Given the description of an element on the screen output the (x, y) to click on. 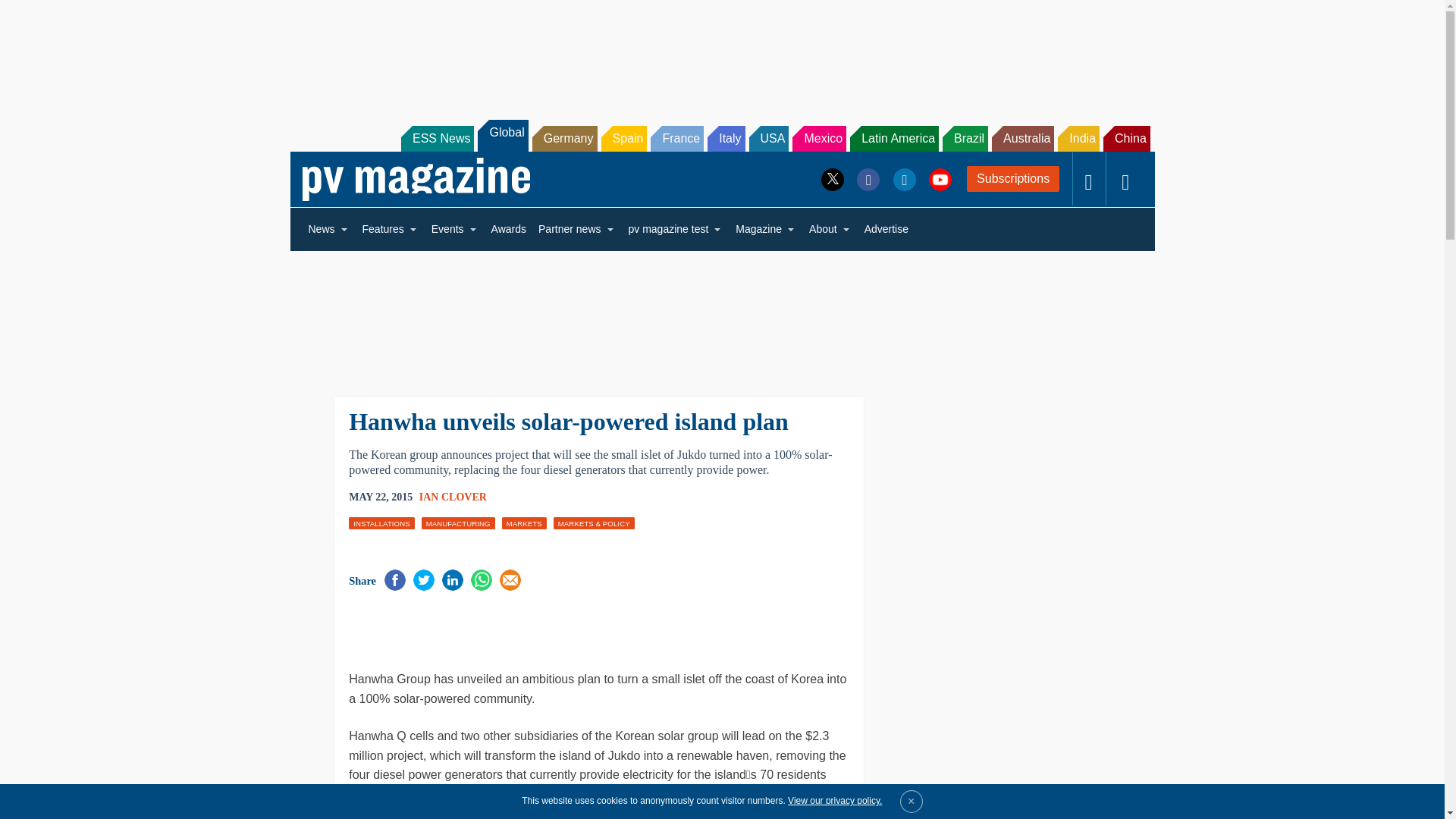
USA (769, 138)
France (676, 138)
Search (32, 15)
Mexico (818, 138)
3rd party ad content (721, 50)
pv magazine - Photovoltaics Markets and Technology (415, 179)
Spain (622, 138)
Posts by Ian Clover (452, 496)
India (1078, 138)
Subscriptions (1012, 178)
